Given the description of an element on the screen output the (x, y) to click on. 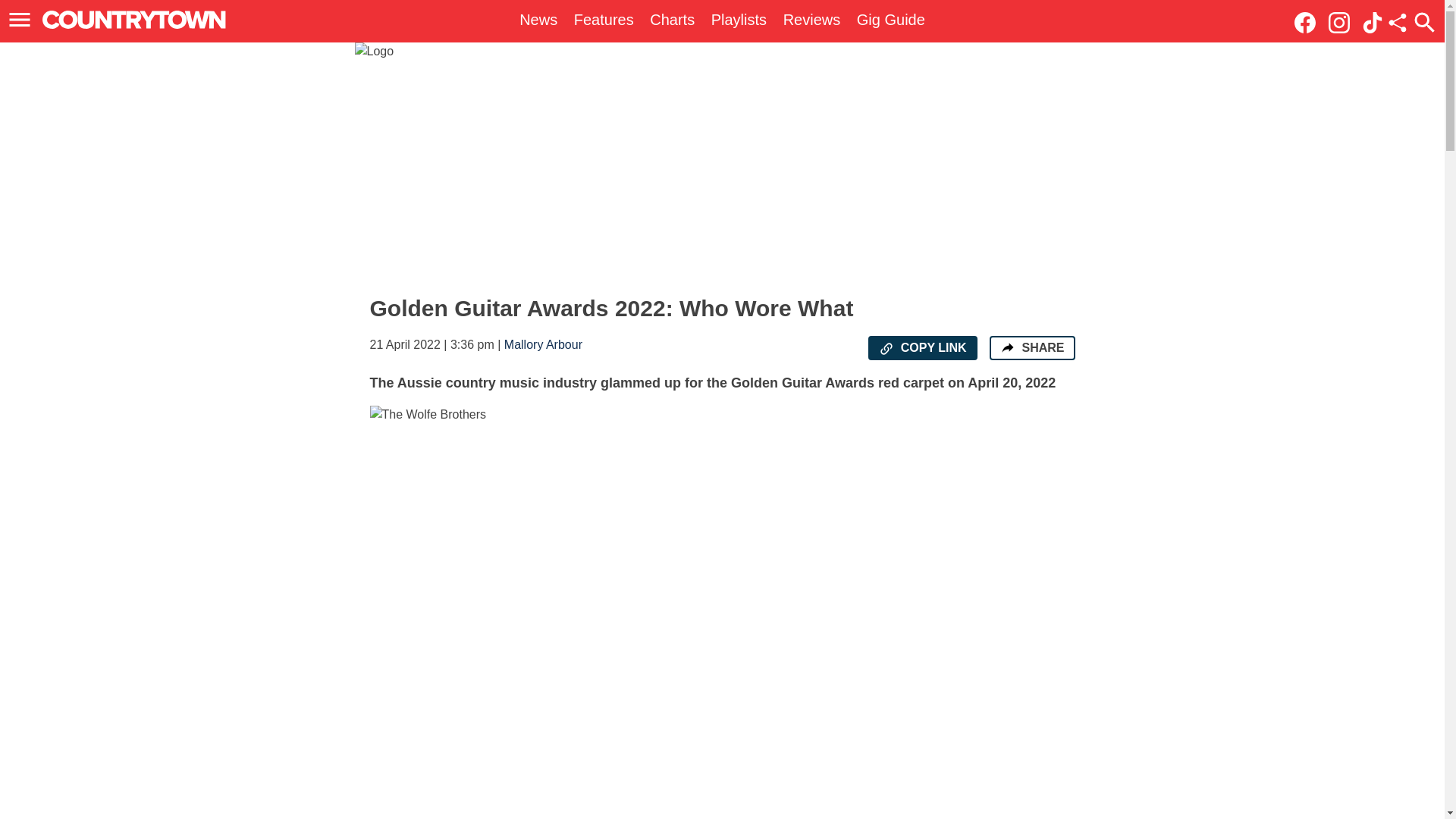
News (538, 19)
Copy the page URL COPY LINK (921, 347)
Open the site search menu (1424, 22)
Share this page (1397, 22)
Link to our Facebook (1309, 21)
Playlists (739, 19)
Share the page (1007, 346)
Copy the page URL (886, 348)
Features (603, 19)
Open the main menu (19, 19)
